Given the description of an element on the screen output the (x, y) to click on. 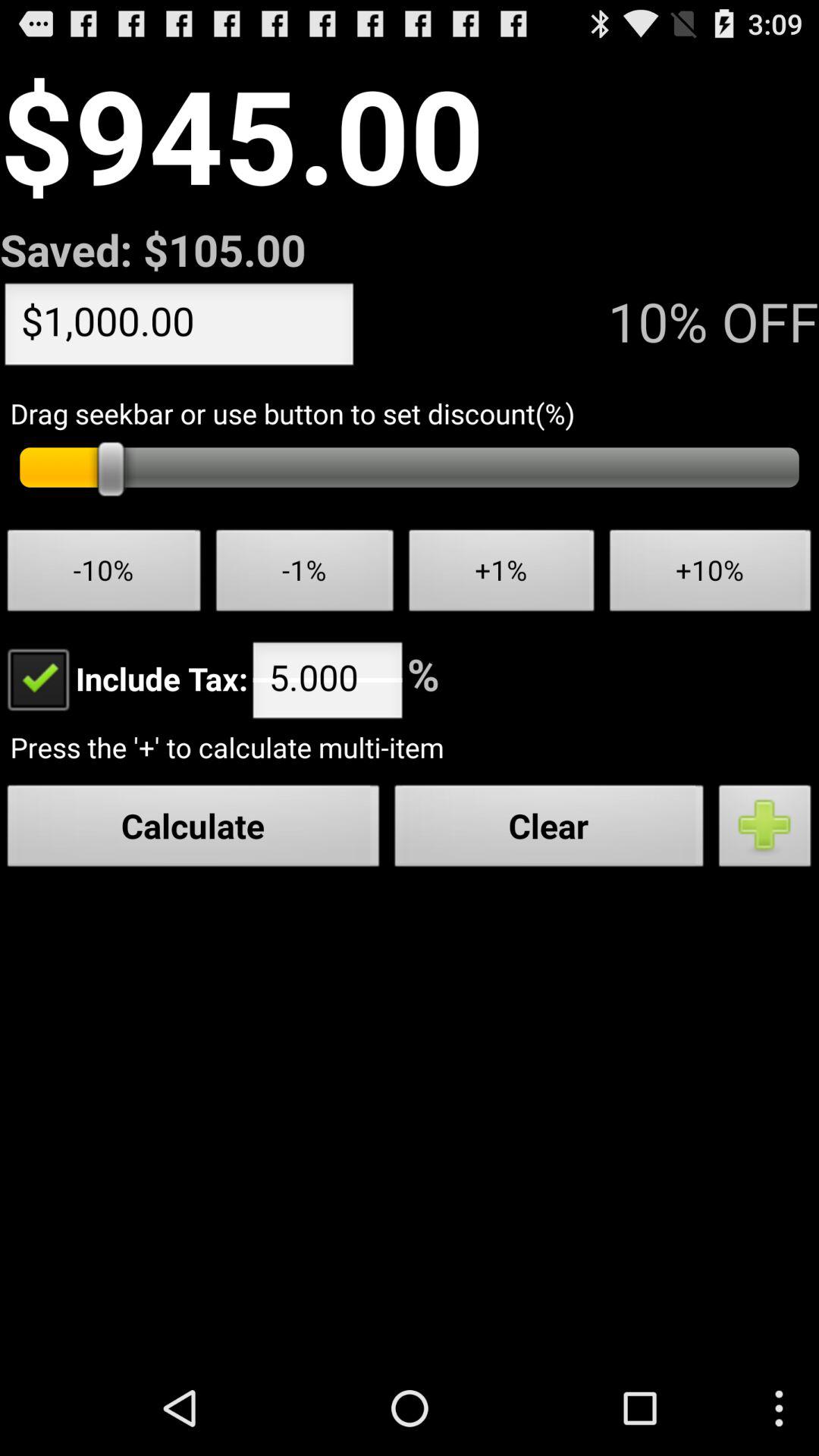
click the app below press the to item (765, 830)
